Given the description of an element on the screen output the (x, y) to click on. 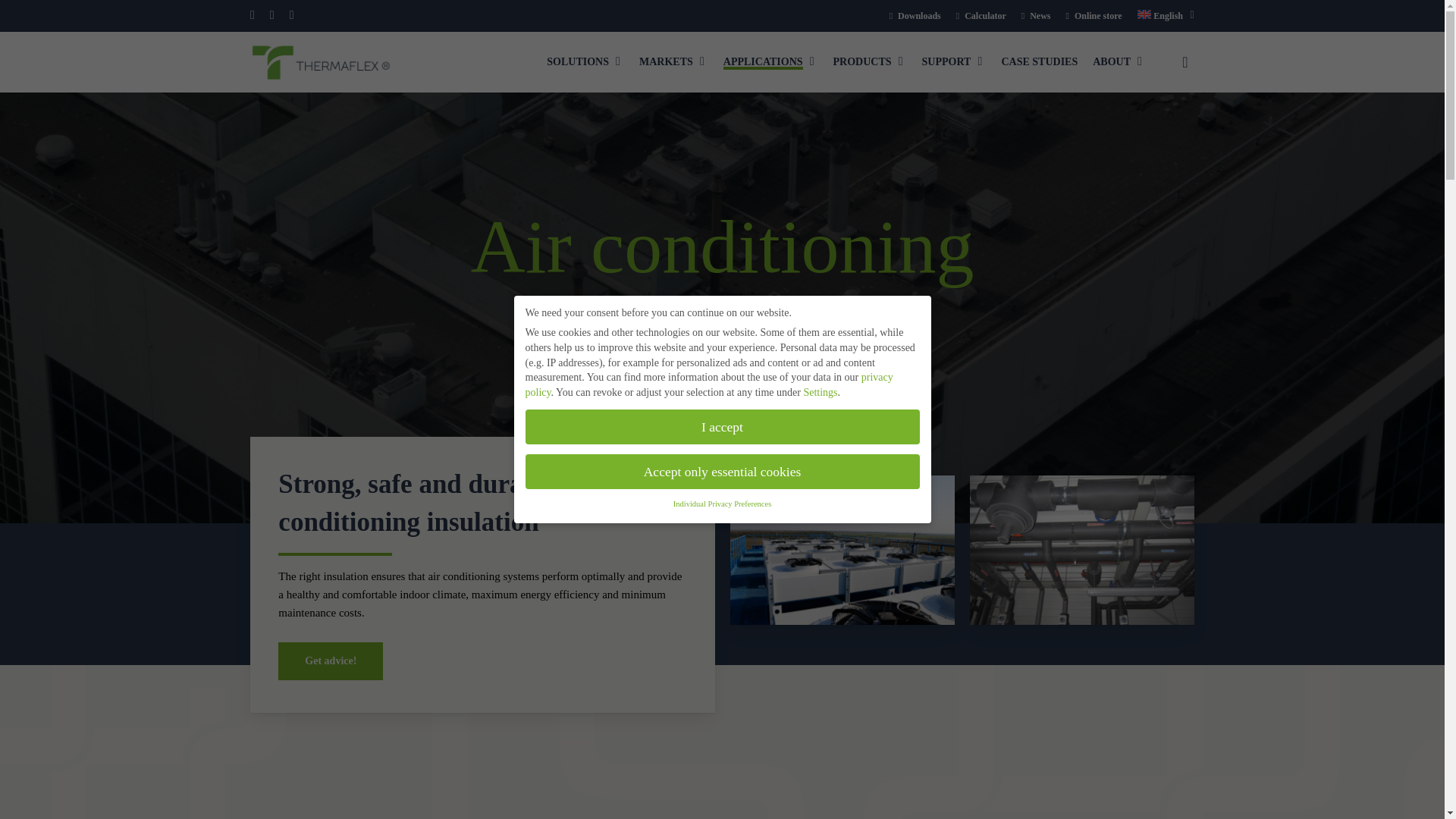
News (1036, 15)
facebook (252, 15)
SOLUTIONS (585, 61)
Downloads (914, 15)
English (1165, 15)
youtube (291, 15)
Online store (1093, 15)
linkedin (272, 15)
APPLICATIONS (770, 61)
Calculator (981, 15)
MARKETS (673, 61)
English (1165, 15)
